Given the description of an element on the screen output the (x, y) to click on. 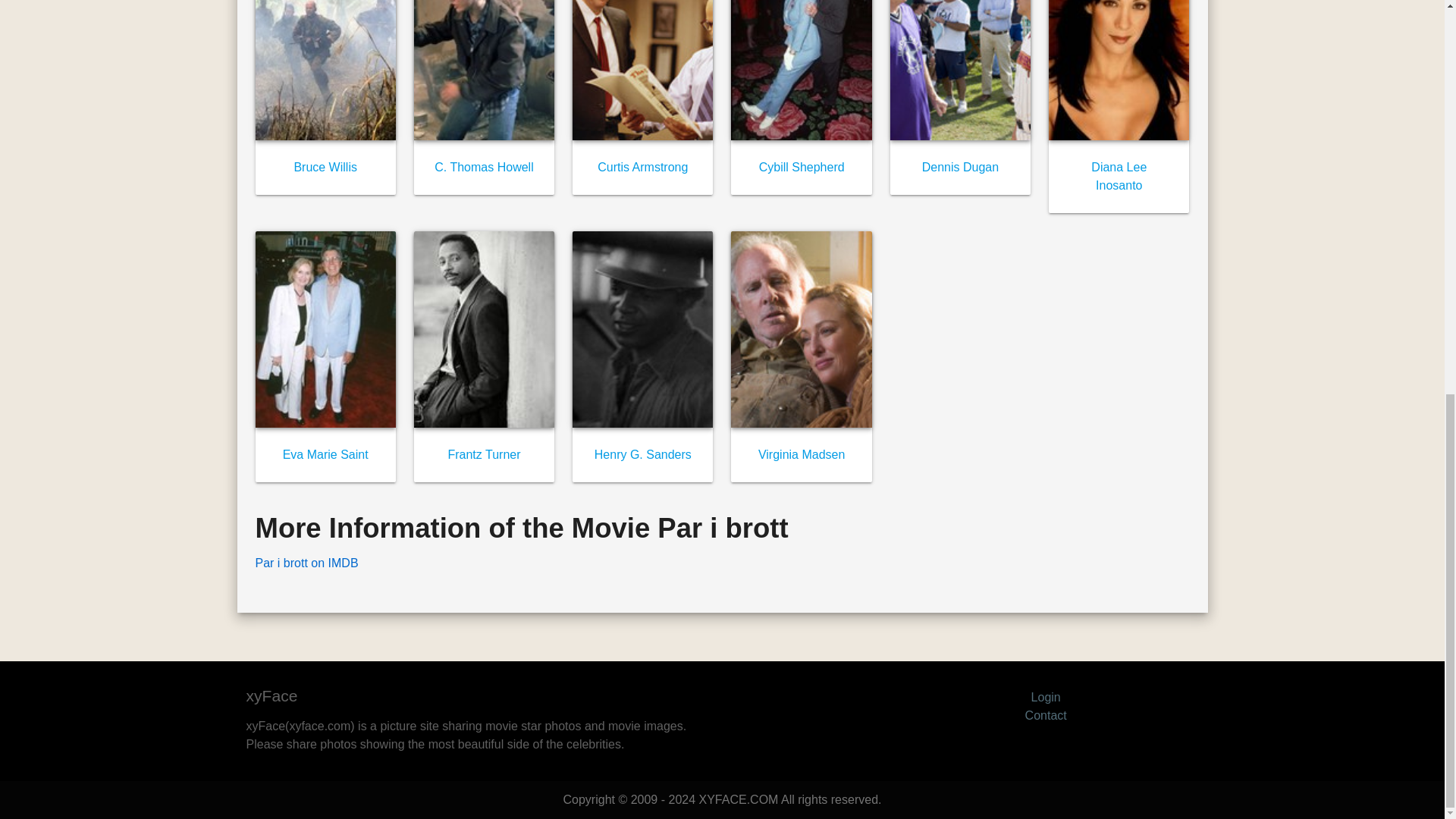
Bruce Willis (325, 166)
C. Thomas Howell (482, 166)
